Given the description of an element on the screen output the (x, y) to click on. 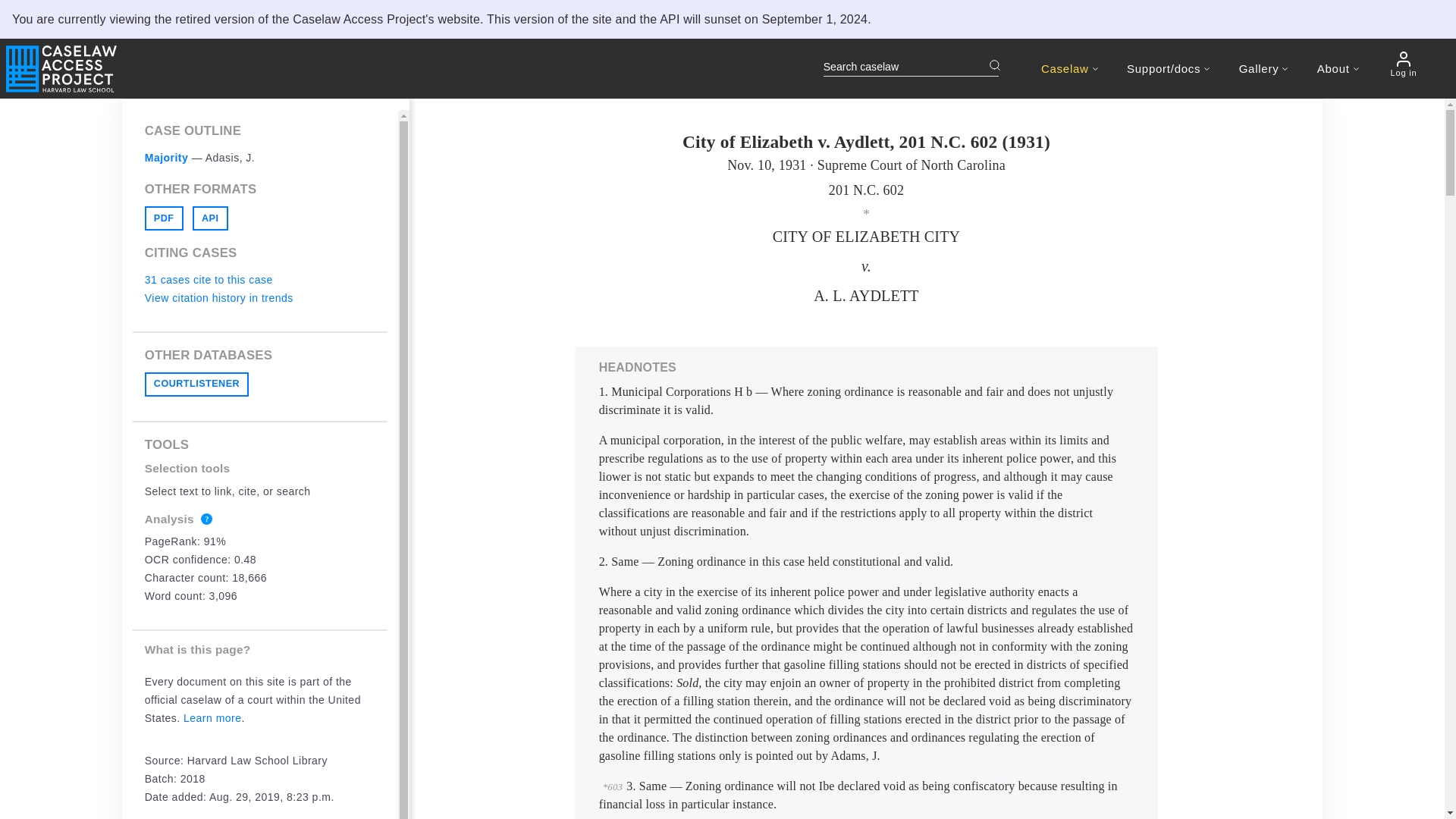
Log in (1403, 64)
Gallery (1263, 68)
About (1338, 68)
API (210, 218)
COURTLISTENER (196, 384)
View citation history in trends (219, 297)
Majority (166, 157)
Learn more (212, 717)
31 cases cite to this case (208, 279)
PDF (163, 218)
